Given the description of an element on the screen output the (x, y) to click on. 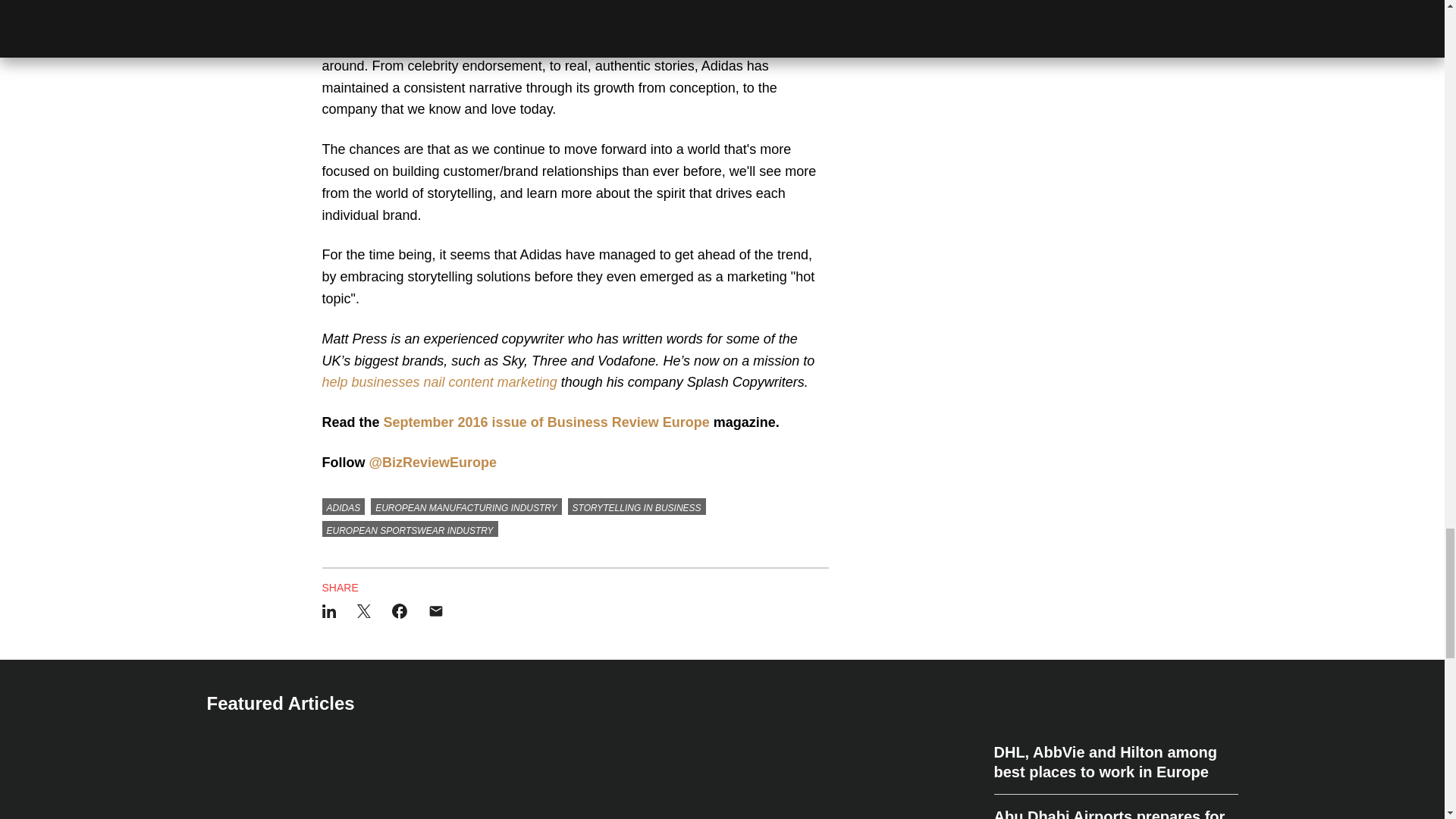
EUROPEAN MANUFACTURING INDUSTRY (465, 506)
Abu Dhabi Airports prepares for Terminal A opening (1114, 806)
DHL, AbbVie and Hilton among best places to work in Europe (1114, 768)
 2016 issue of Business Review Europe  (583, 421)
ADIDAS (343, 506)
STORYTELLING IN BUSINESS (636, 506)
help businesses nail content marketing (438, 381)
September (419, 421)
EUROPEAN SPORTSWEAR INDUSTRY (409, 528)
